Given the description of an element on the screen output the (x, y) to click on. 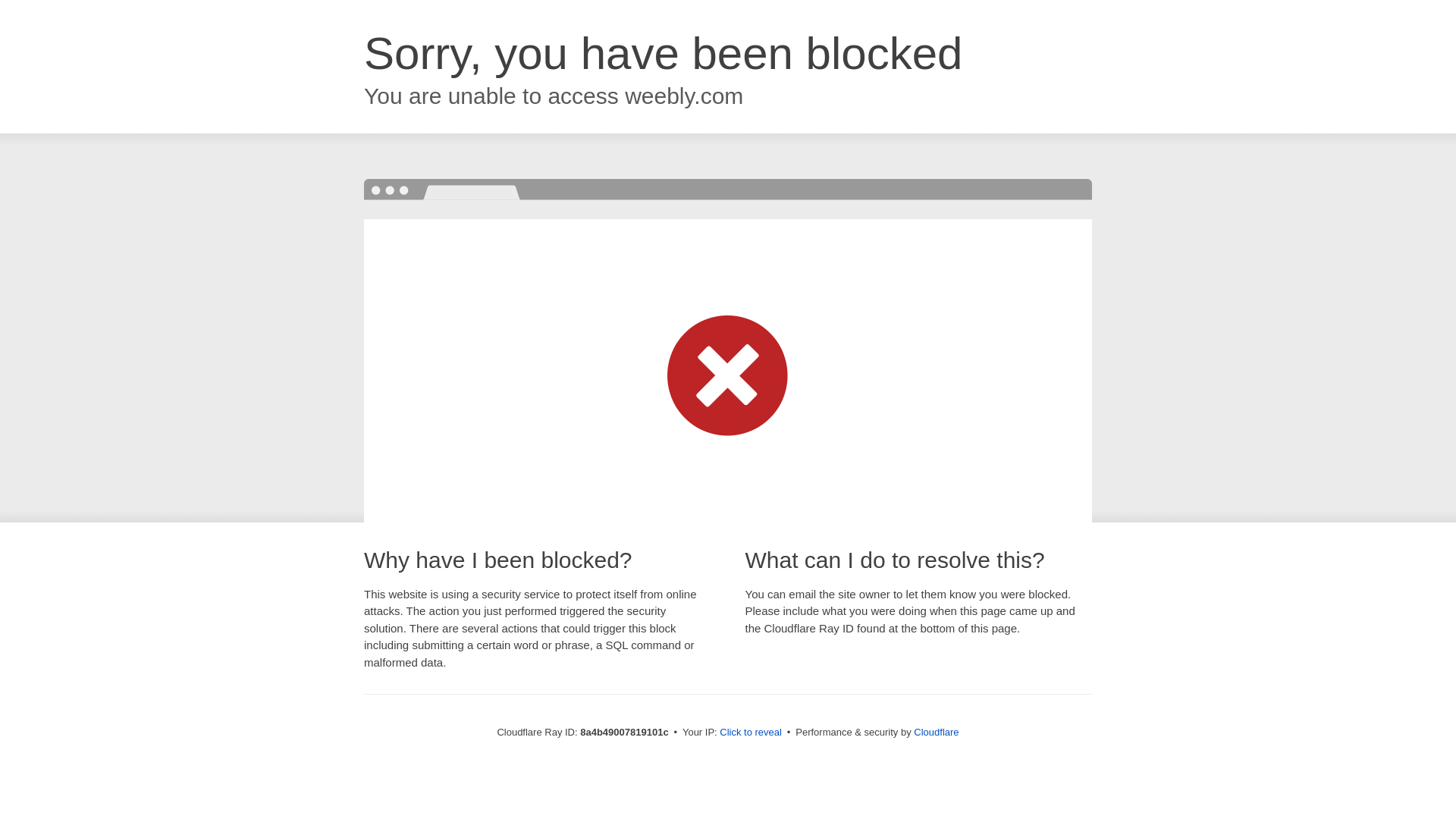
Cloudflare (936, 731)
Click to reveal (750, 732)
